Given the description of an element on the screen output the (x, y) to click on. 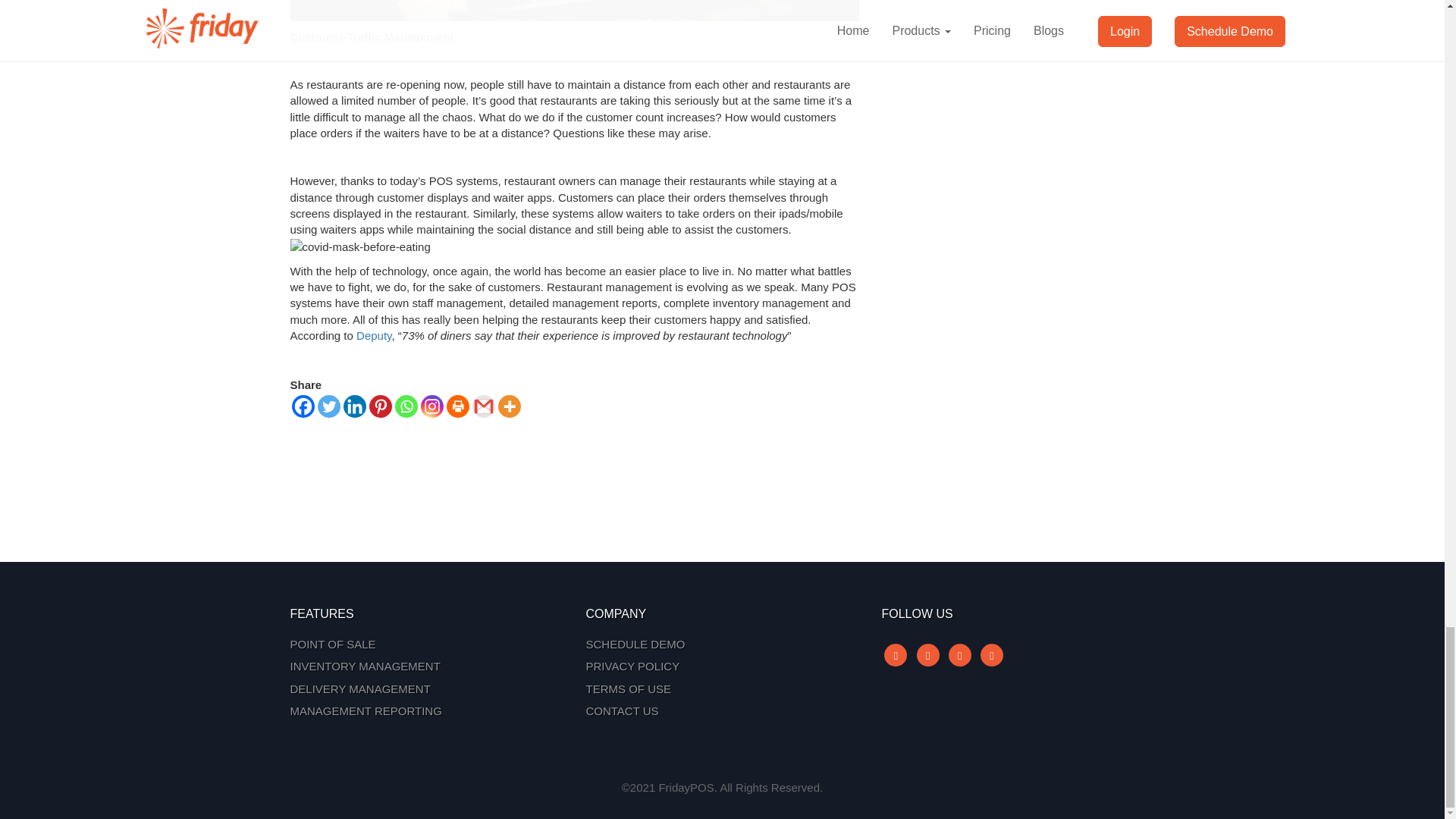
POINT OF SALE (425, 643)
CONTACT US (722, 710)
Twitter (328, 405)
MANAGEMENT REPORTING (425, 710)
Instagram (431, 405)
DELIVERY MANAGEMENT (425, 688)
Deputy (373, 335)
Facebook (302, 405)
INVENTORY MANAGEMENT (425, 666)
PRIVACY POLICY (722, 666)
